Given the description of an element on the screen output the (x, y) to click on. 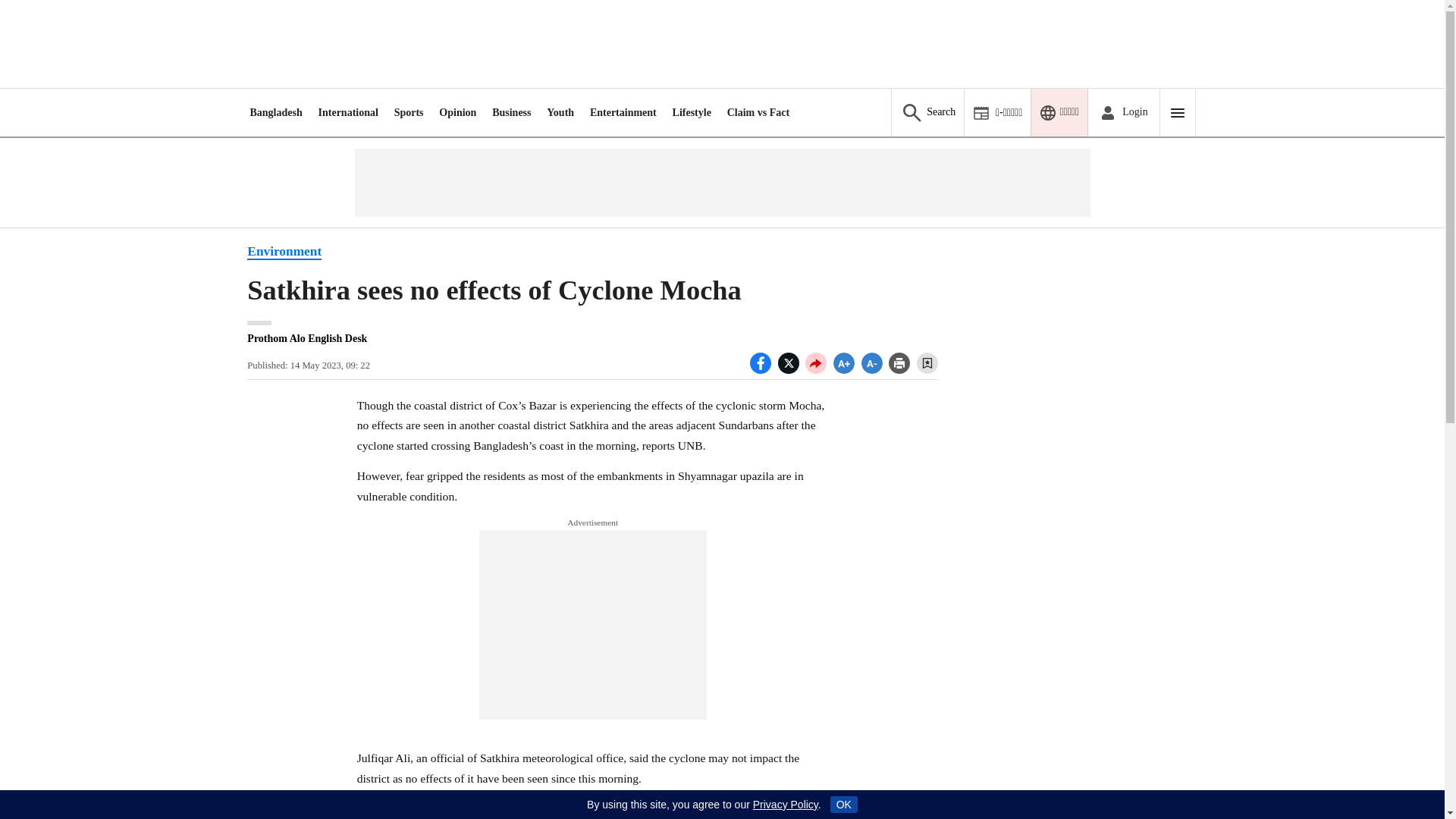
Login (1122, 112)
International (348, 112)
Opinion (457, 112)
Search (926, 112)
OK (843, 804)
Claim vs Fact (757, 112)
Youth (560, 112)
Privacy Policy (785, 804)
Bangladesh (274, 112)
Sports (408, 112)
